Given the description of an element on the screen output the (x, y) to click on. 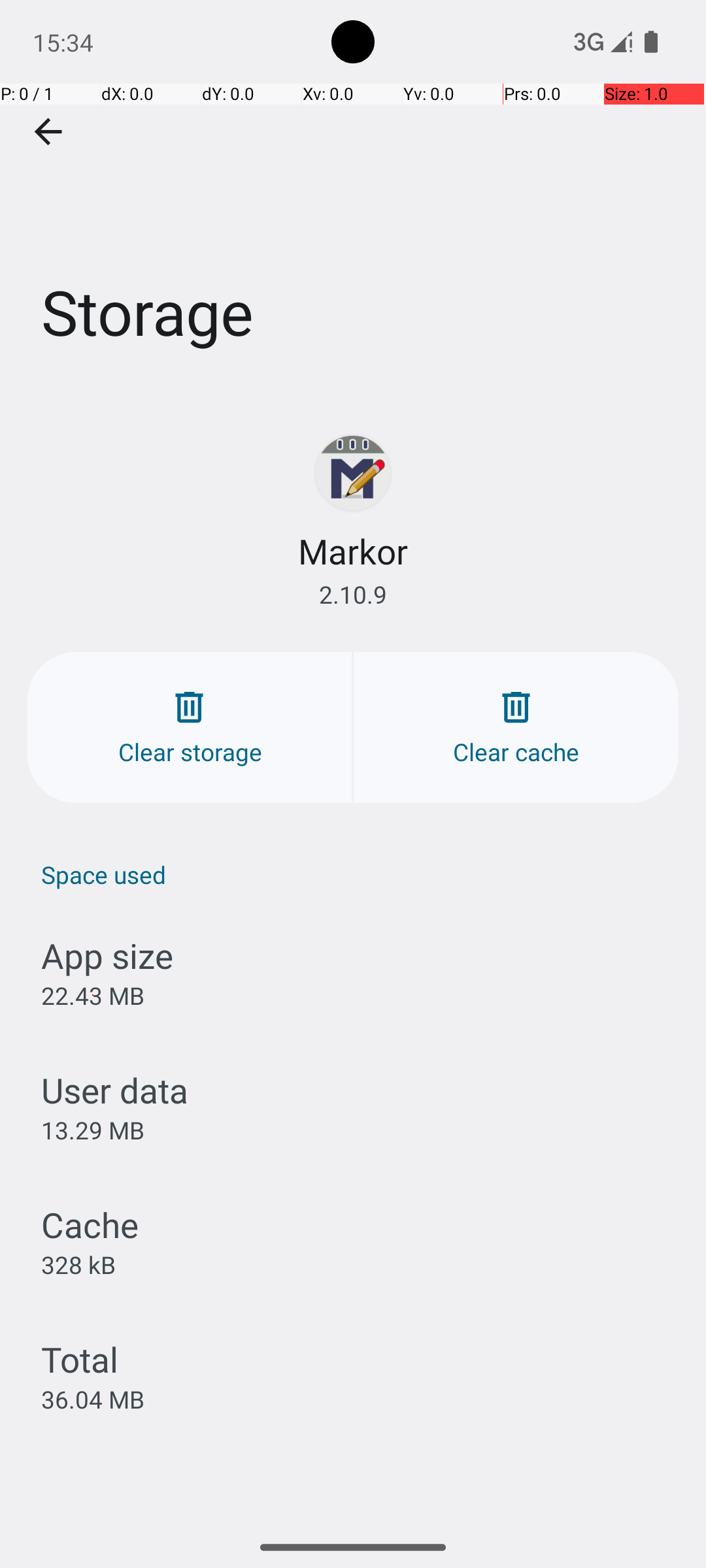
2.10.9 Element type: android.widget.TextView (352, 593)
Clear storage Element type: android.widget.Button (189, 727)
Clear cache Element type: android.widget.Button (515, 727)
Space used Element type: android.widget.TextView (359, 874)
App size Element type: android.widget.TextView (107, 955)
22.43 MB Element type: android.widget.TextView (92, 995)
User data Element type: android.widget.TextView (114, 1089)
13.29 MB Element type: android.widget.TextView (92, 1129)
Cache Element type: android.widget.TextView (89, 1224)
328 kB Element type: android.widget.TextView (78, 1264)
Total Element type: android.widget.TextView (79, 1359)
36.04 MB Element type: android.widget.TextView (92, 1398)
